Given the description of an element on the screen output the (x, y) to click on. 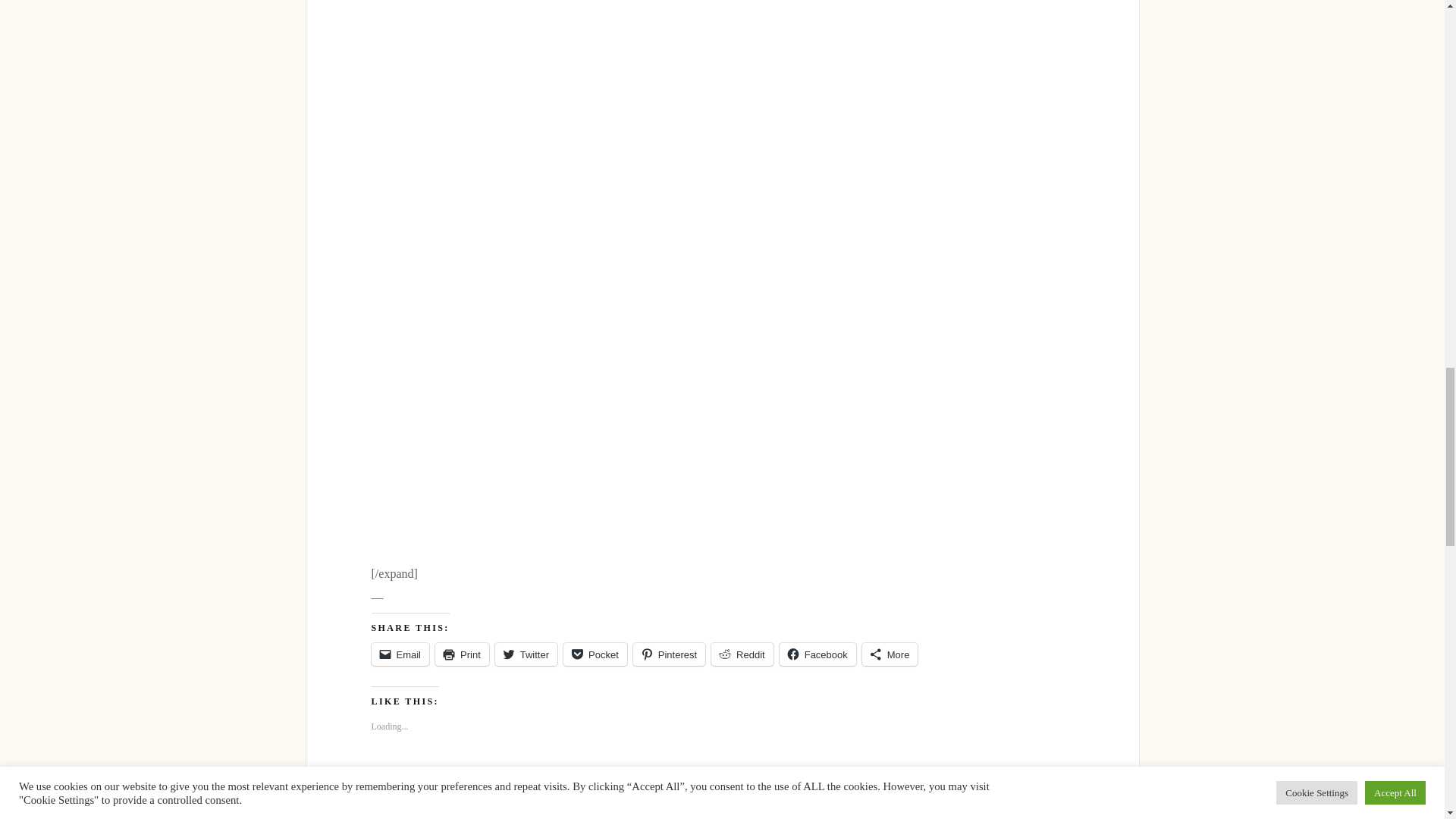
Click to share on Twitter (526, 653)
Click to print (462, 653)
Click to share on Pinterest (668, 653)
Click to share on Reddit (742, 653)
Click to email a link to a friend (400, 653)
Click to share on Facebook (817, 653)
Click to share on Pocket (595, 653)
